Given the description of an element on the screen output the (x, y) to click on. 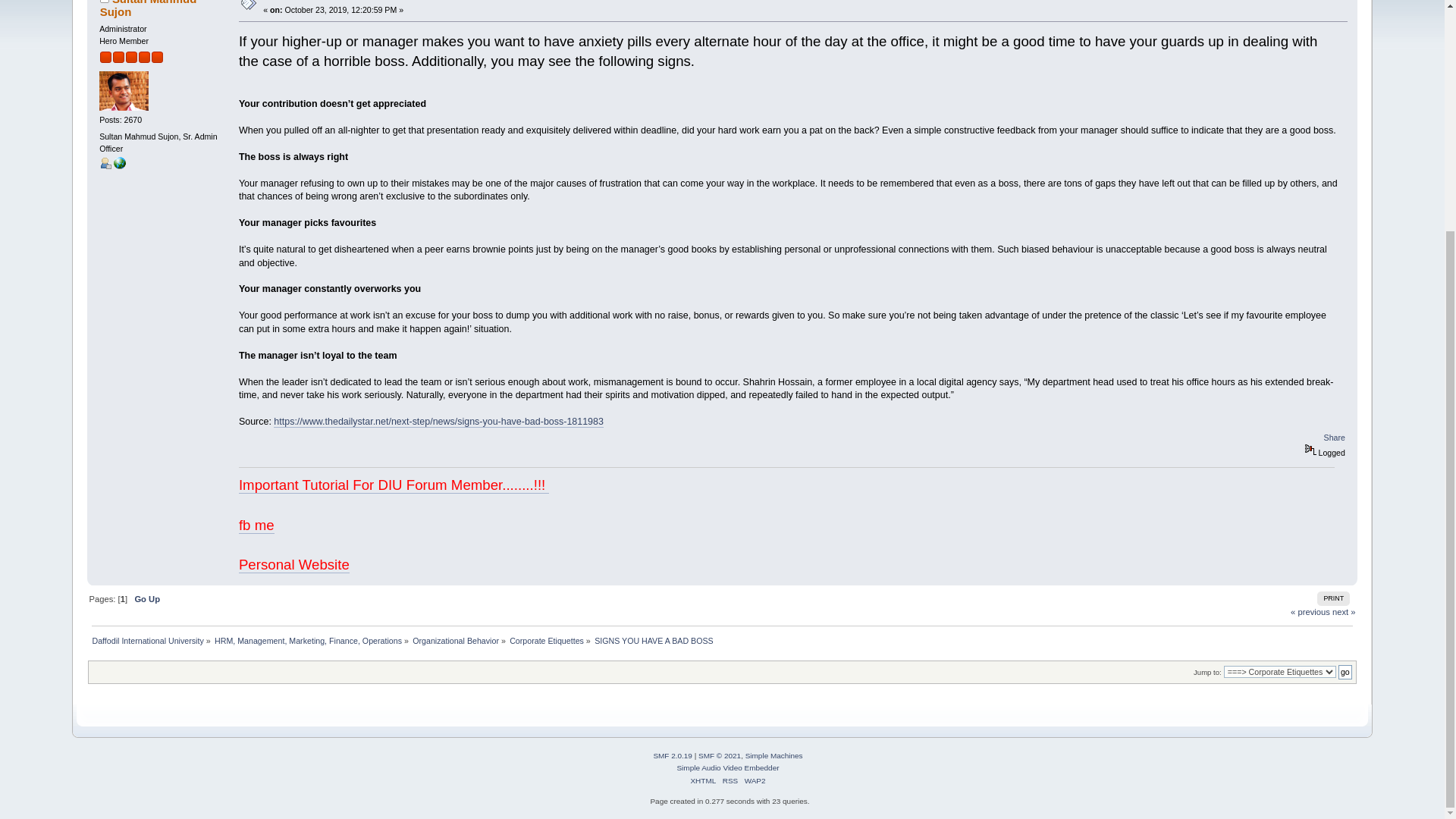
Sultan Mahmud Sujon (148, 8)
Important Tutorial For DIU Forum Member........!!!  (394, 484)
go (1345, 671)
Simple Machines Forum (672, 755)
SIGNS YOU HAVE A BAD BOSS (333, 1)
View Profile (105, 162)
Daffodil International University (147, 640)
View the profile of Sultan Mahmud Sujon (148, 8)
PRINT (1333, 598)
HRM, Management, Marketing, Finance, Operations (307, 640)
License (719, 755)
Personal Website (293, 564)
fb me (256, 524)
Simple Machines (774, 755)
Share (1334, 437)
